Given the description of an element on the screen output the (x, y) to click on. 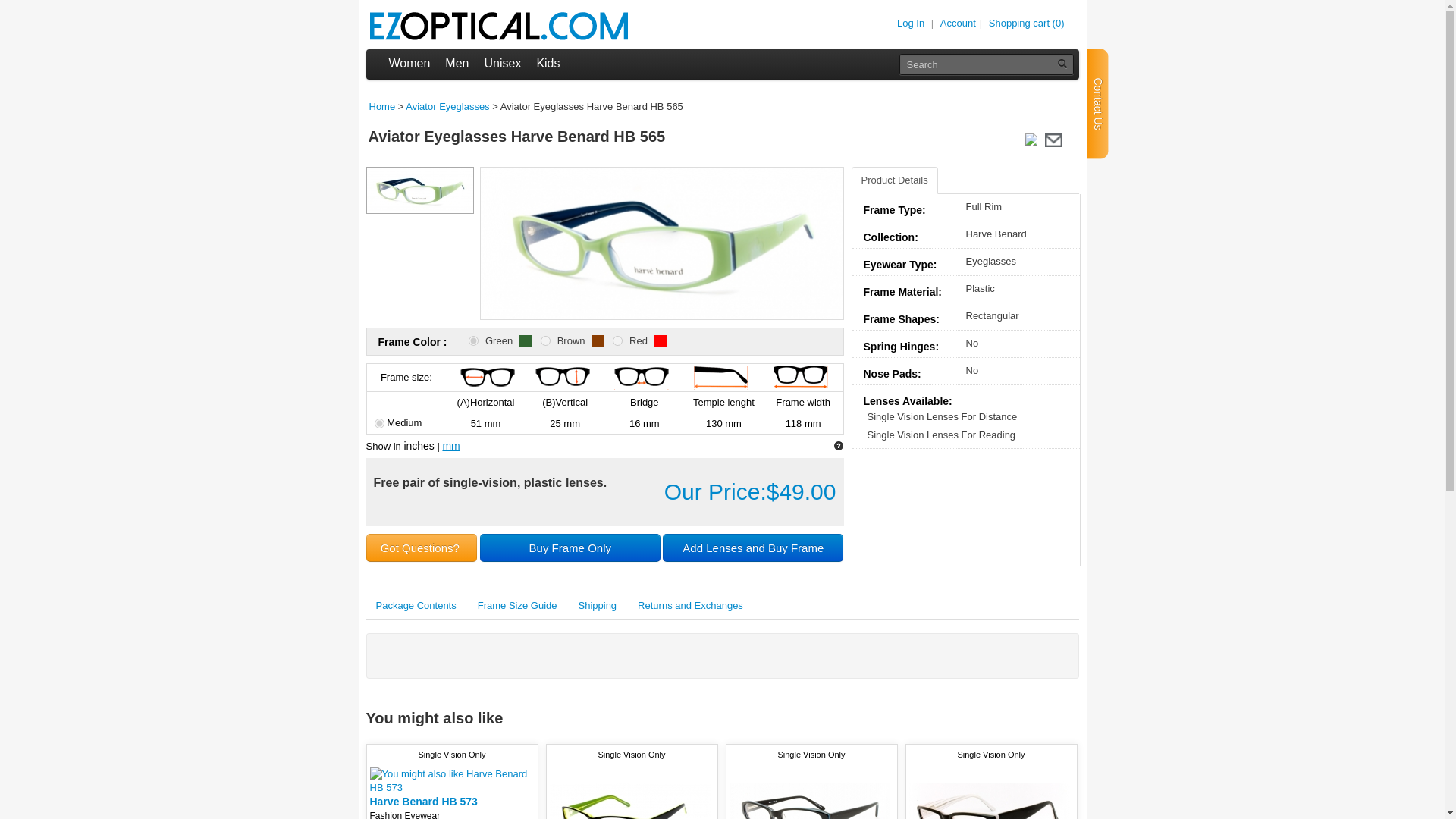
49 (617, 340)
 You might also like Harve Benard HB 554 (988, 793)
Frame Size Guide (517, 605)
Shipping (598, 605)
 You might also like Harve Benard HB 561 (629, 793)
Product Details (893, 180)
Kids (547, 63)
Kids (547, 63)
Aviator Eyeglasses (447, 106)
Home (381, 106)
Buy Frame Only (570, 547)
Women (409, 63)
Men (457, 63)
Harve Benard HB 573 (423, 801)
EzOptical.com (497, 26)
